Given the description of an element on the screen output the (x, y) to click on. 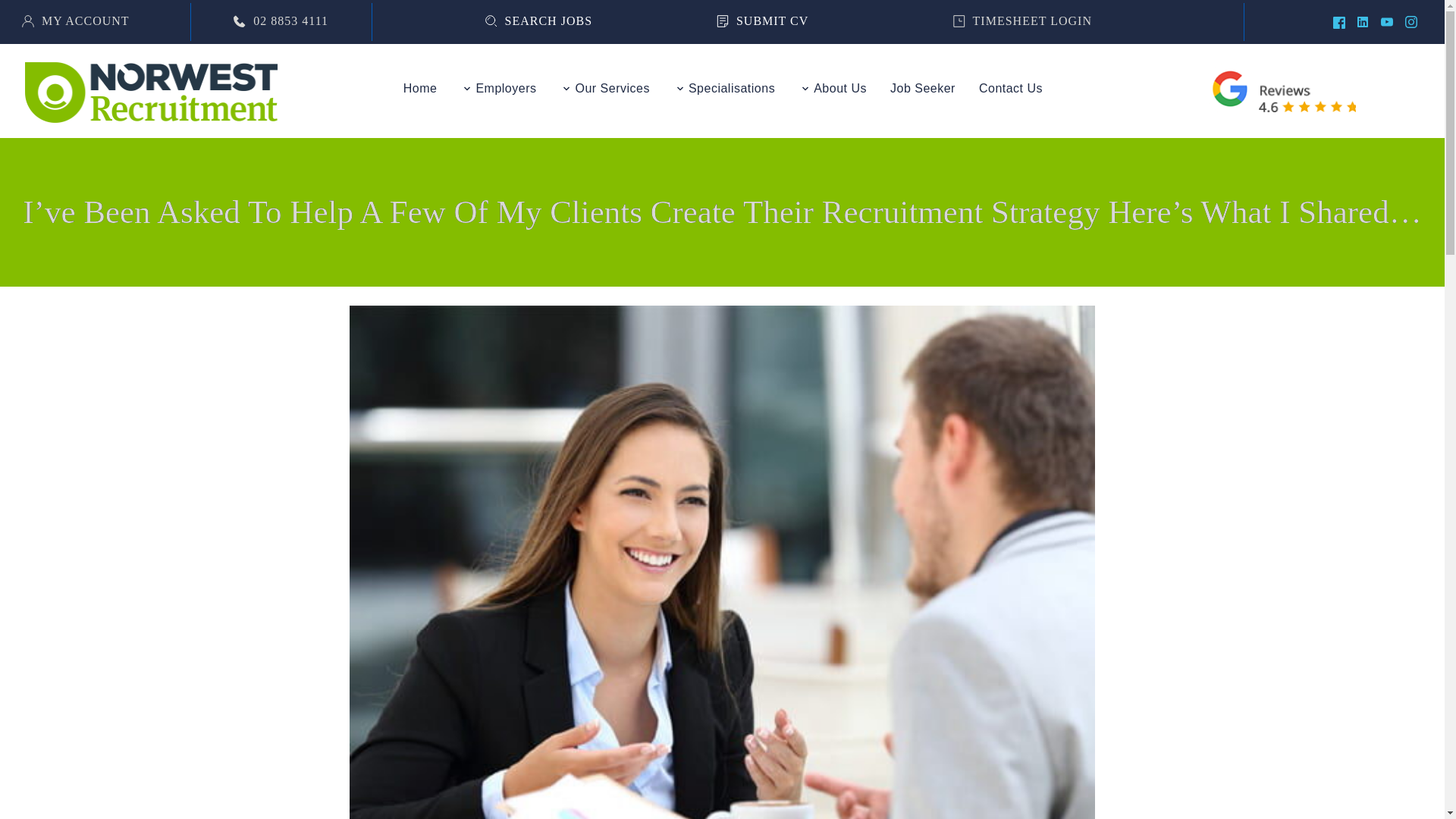
About Us (832, 88)
Employers (498, 88)
TIMESHEET LOGIN (1022, 21)
Our Services (604, 88)
Home (419, 88)
MY ACCOUNT (75, 21)
SEARCH JOBS (538, 21)
Specialisations (723, 88)
SUBMIT CV (762, 21)
02 8853 4111 (280, 21)
